Given the description of an element on the screen output the (x, y) to click on. 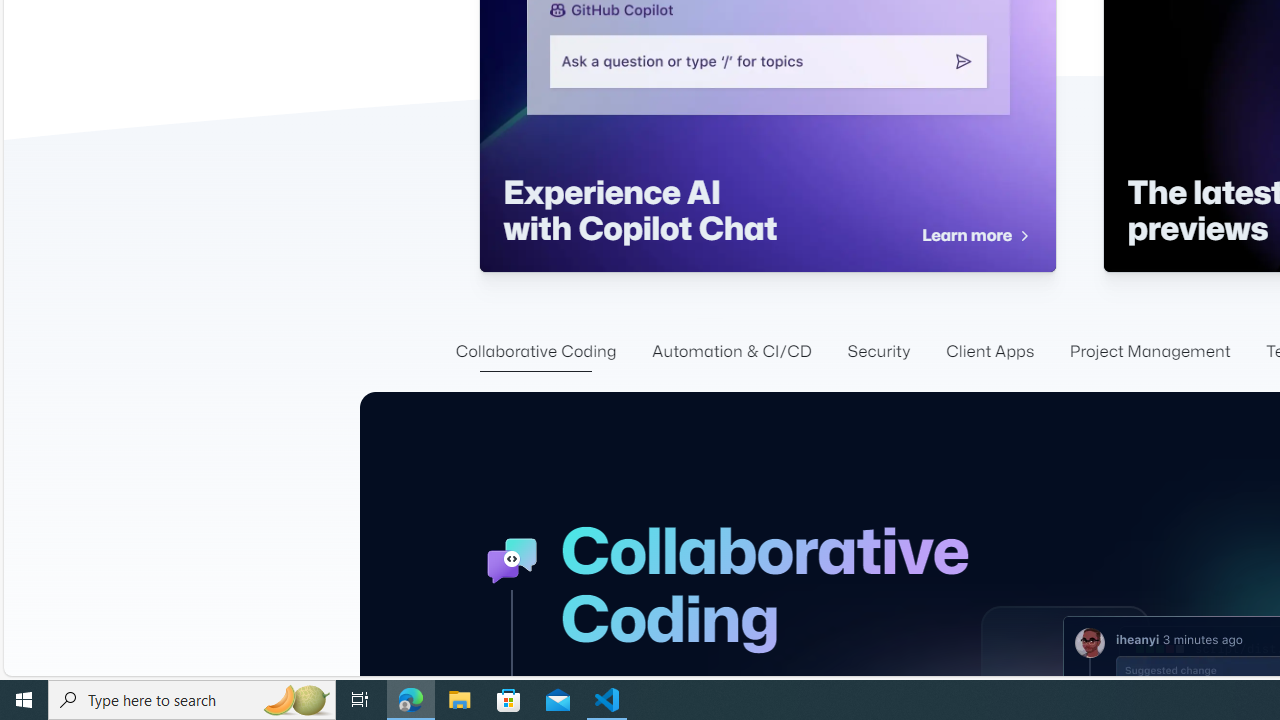
Class: octicon arrow-symbol-mktg octicon (1023, 236)
Collaborative Coding (535, 351)
Automation & CI/CD (731, 351)
Client Apps (990, 351)
Project Management (1149, 351)
Security (879, 351)
GitHub Collaboration Icon (511, 560)
